Given the description of an element on the screen output the (x, y) to click on. 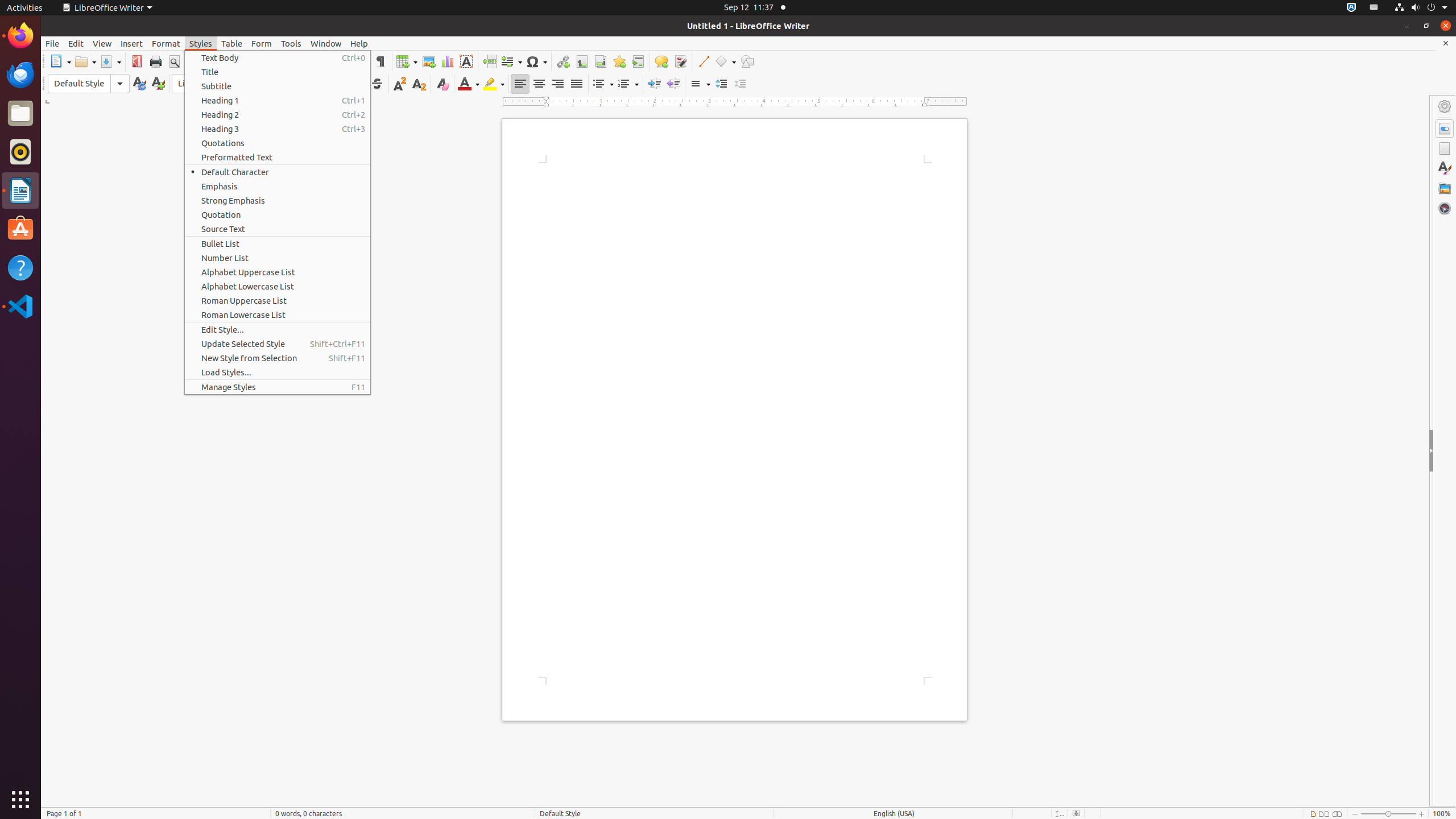
Help Element type: menu (358, 43)
Comment Element type: push-button (660, 61)
Chart Element type: push-button (446, 61)
LibreOffice Writer Element type: menu (106, 7)
Insert Element type: menu (131, 43)
